Given the description of an element on the screen output the (x, y) to click on. 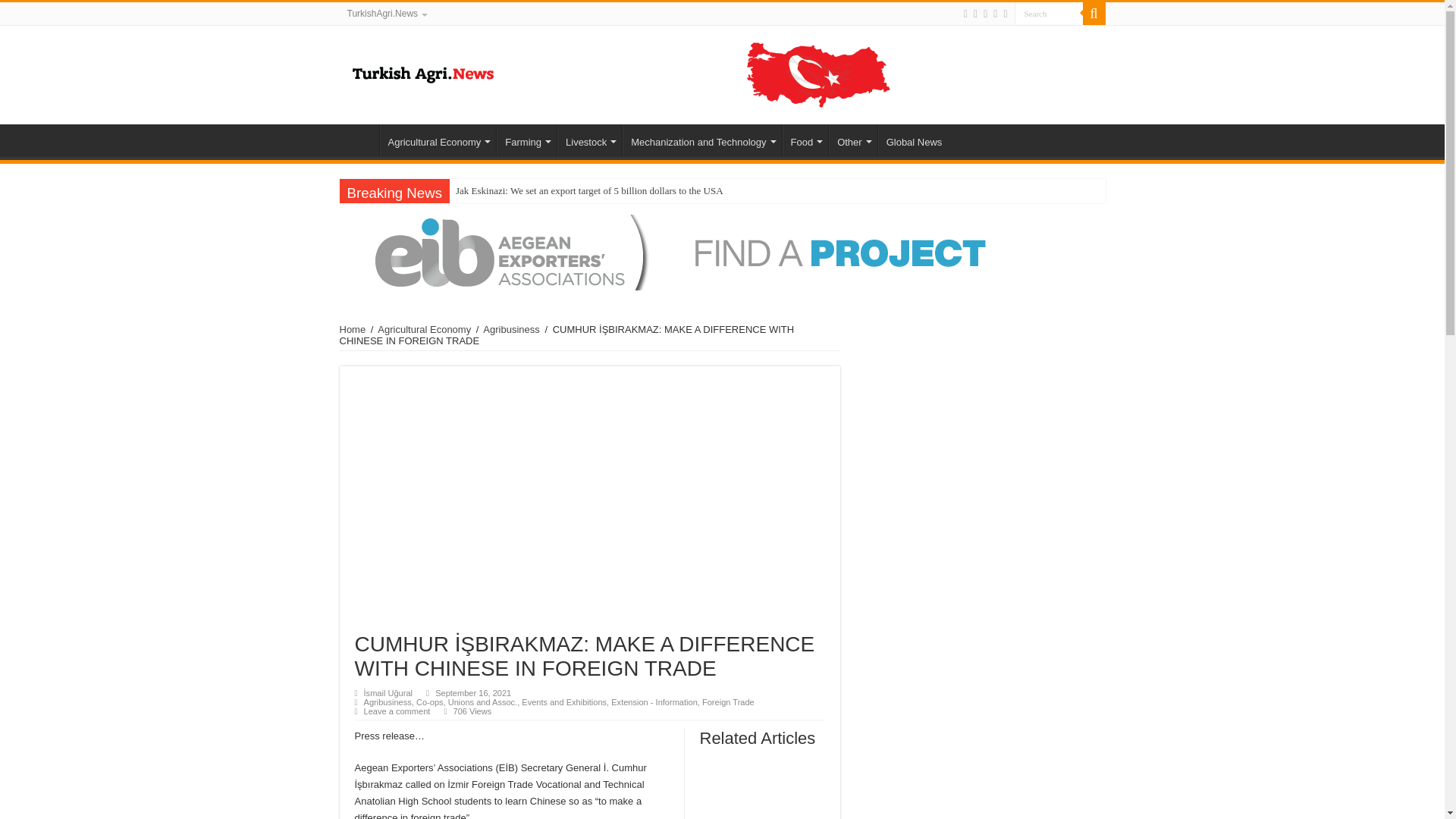
TurkishAgri.News (386, 13)
Home (358, 140)
Farming (526, 140)
Agricultural Economy (437, 140)
Search (1048, 13)
Livestock (589, 140)
Search (1048, 13)
Search (1048, 13)
Search (1094, 13)
